Given the description of an element on the screen output the (x, y) to click on. 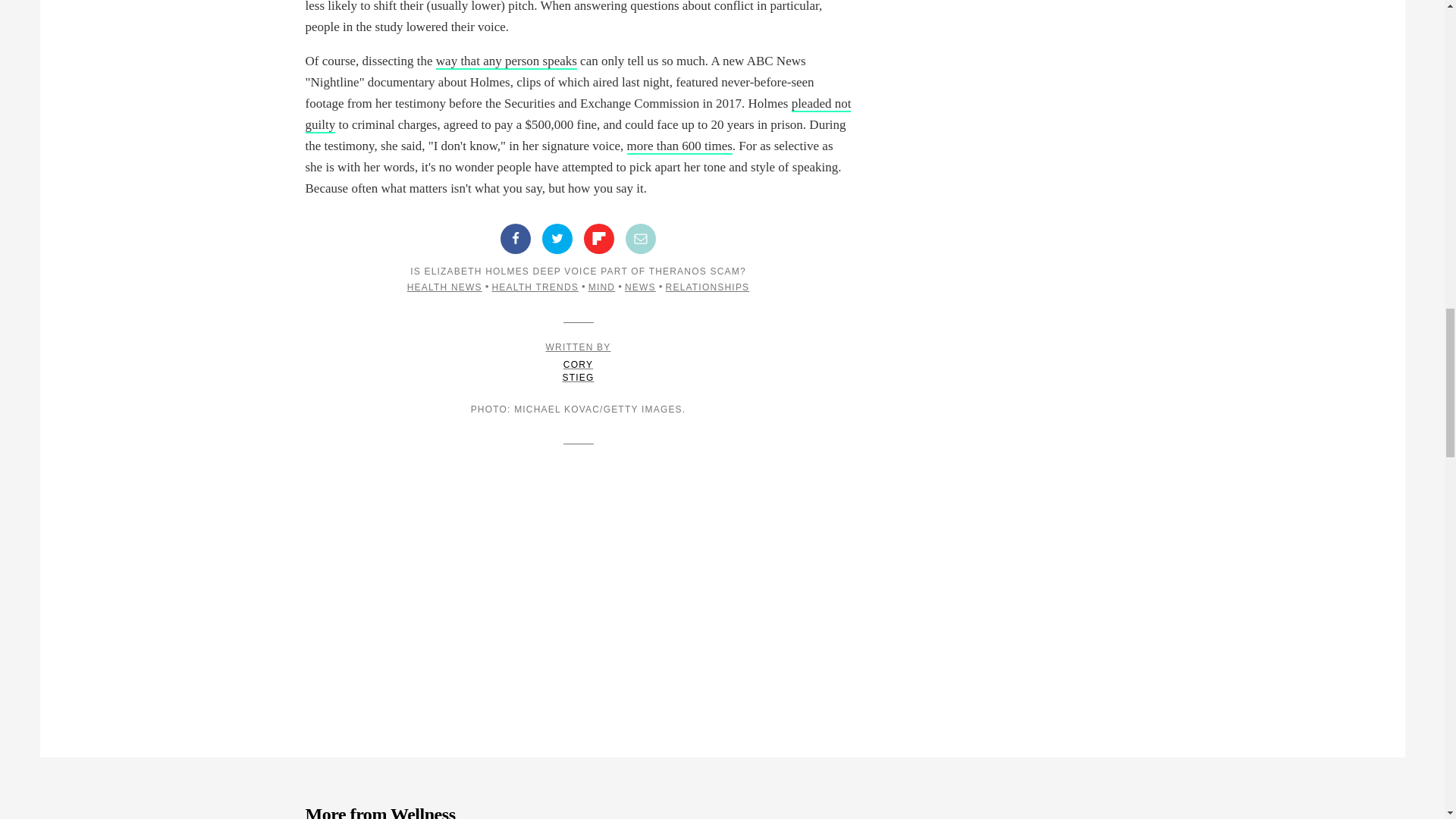
Share on Facebook (515, 238)
Share by Email (641, 238)
more than 600 times (679, 146)
way that any person speaks (505, 61)
Share on Flipboard (598, 238)
pleaded not guilty (577, 114)
Share on Twitter (556, 238)
